Given the description of an element on the screen output the (x, y) to click on. 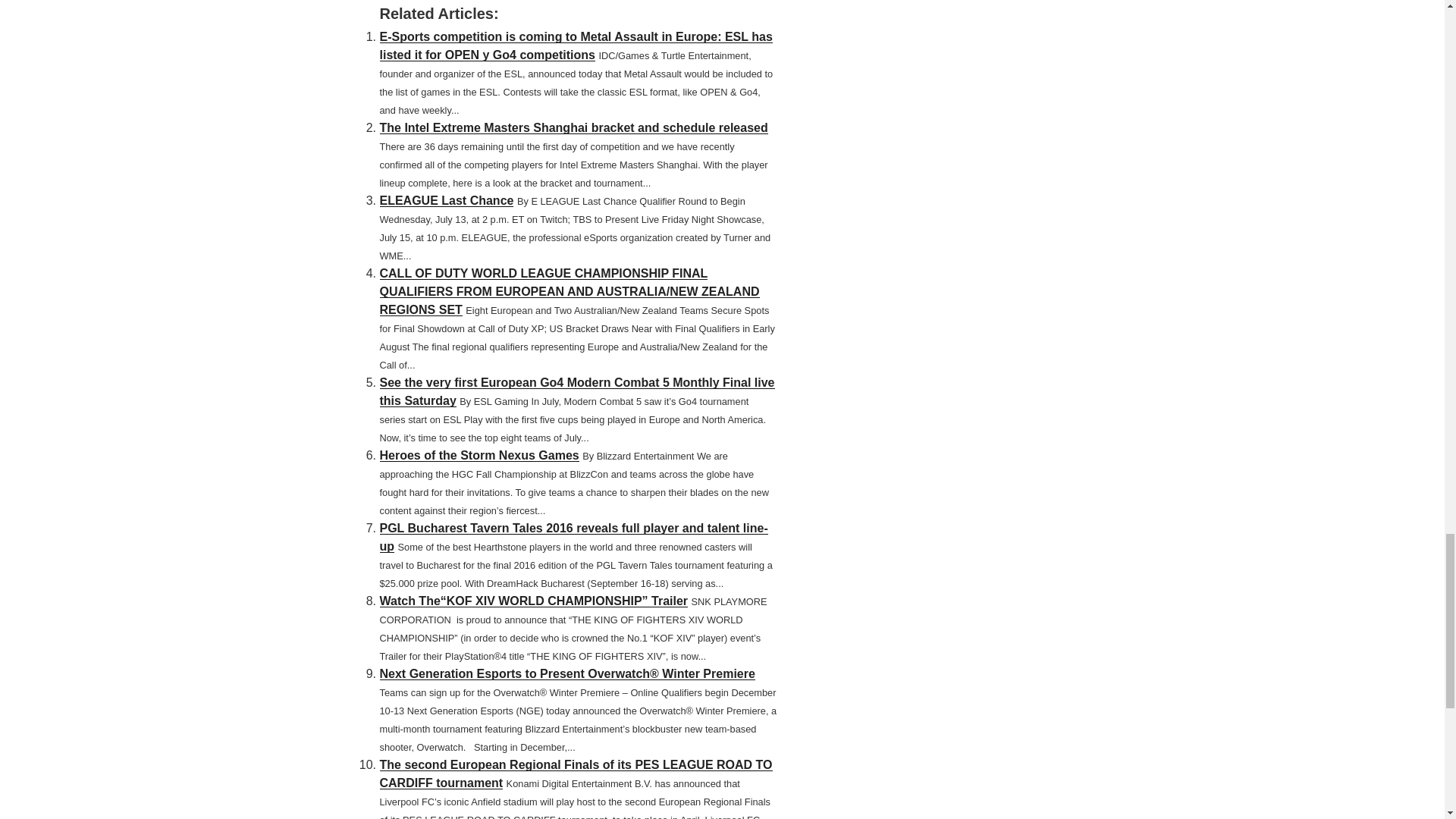
Heroes of the Storm Nexus Games (478, 454)
ELEAGUE Last Chance (445, 200)
ELEAGUE Last Chance (445, 200)
